Given the description of an element on the screen output the (x, y) to click on. 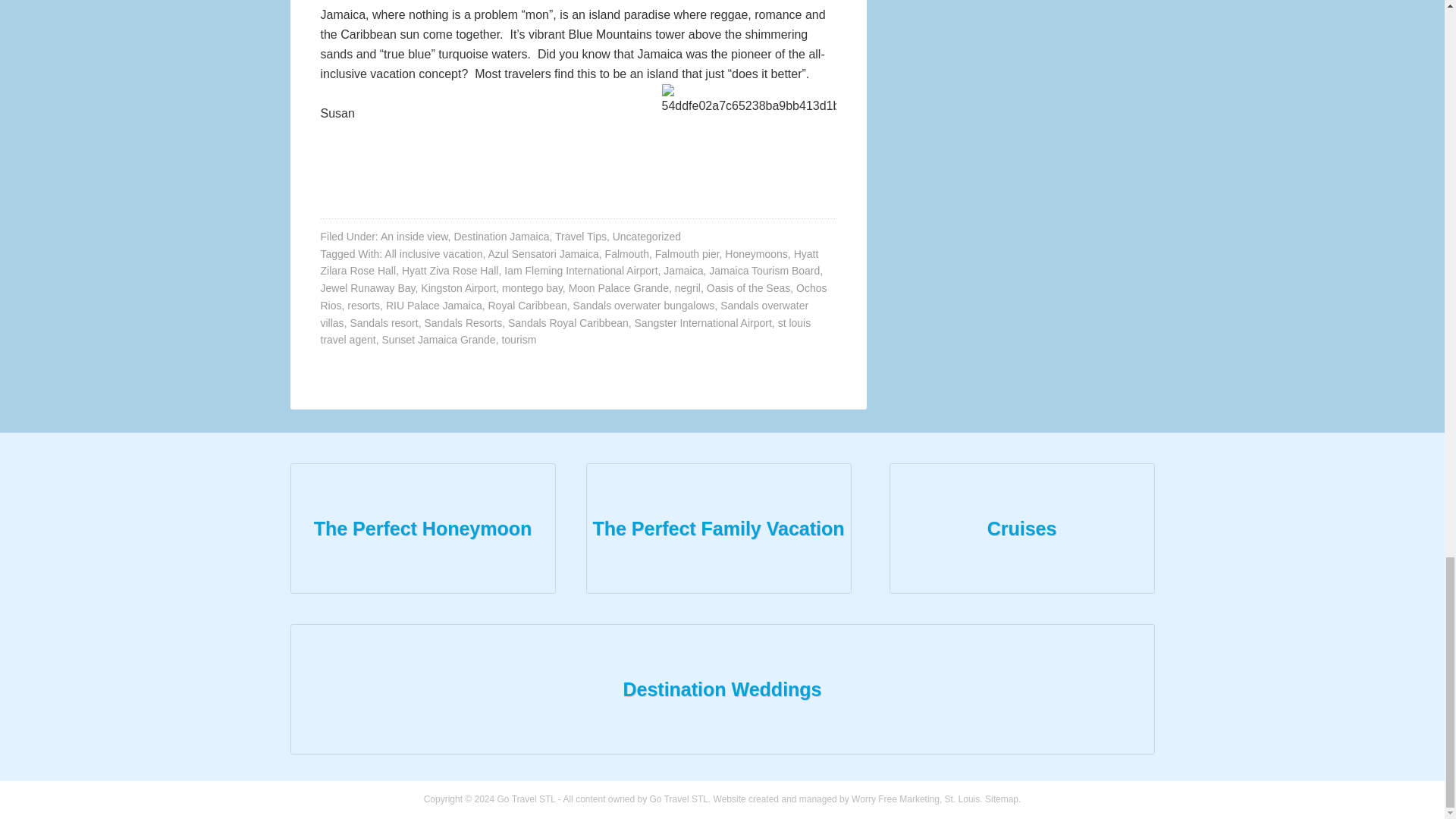
Azul Sensatori Jamaica (542, 253)
An inside view (414, 236)
Falmouth (627, 253)
Travel Tips (580, 236)
All inclusive vacation (432, 253)
Destination Jamaica (500, 236)
Uncategorized (646, 236)
